Given the description of an element on the screen output the (x, y) to click on. 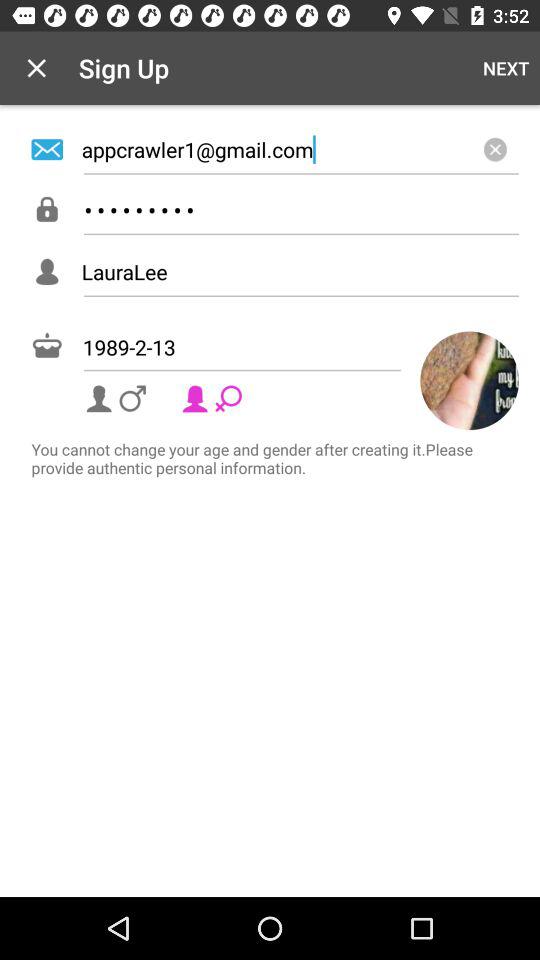
jump until lauralee icon (300, 271)
